Given the description of an element on the screen output the (x, y) to click on. 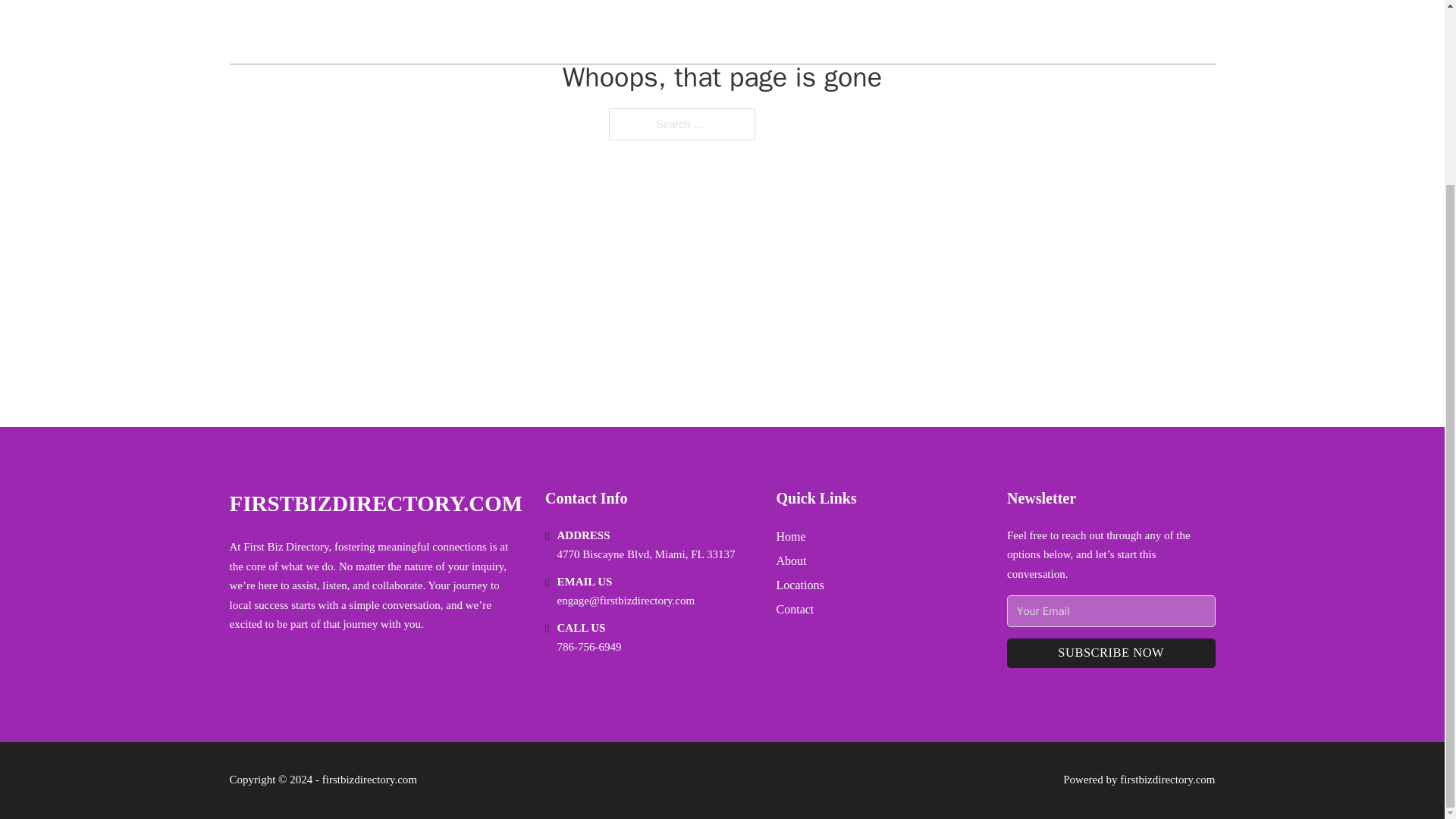
786-756-6949 (589, 646)
Contact (794, 608)
Locations (800, 584)
Home (791, 536)
SUBSCRIBE NOW (1110, 653)
FIRSTBIZDIRECTORY.COM (375, 503)
About (791, 560)
